Given the description of an element on the screen output the (x, y) to click on. 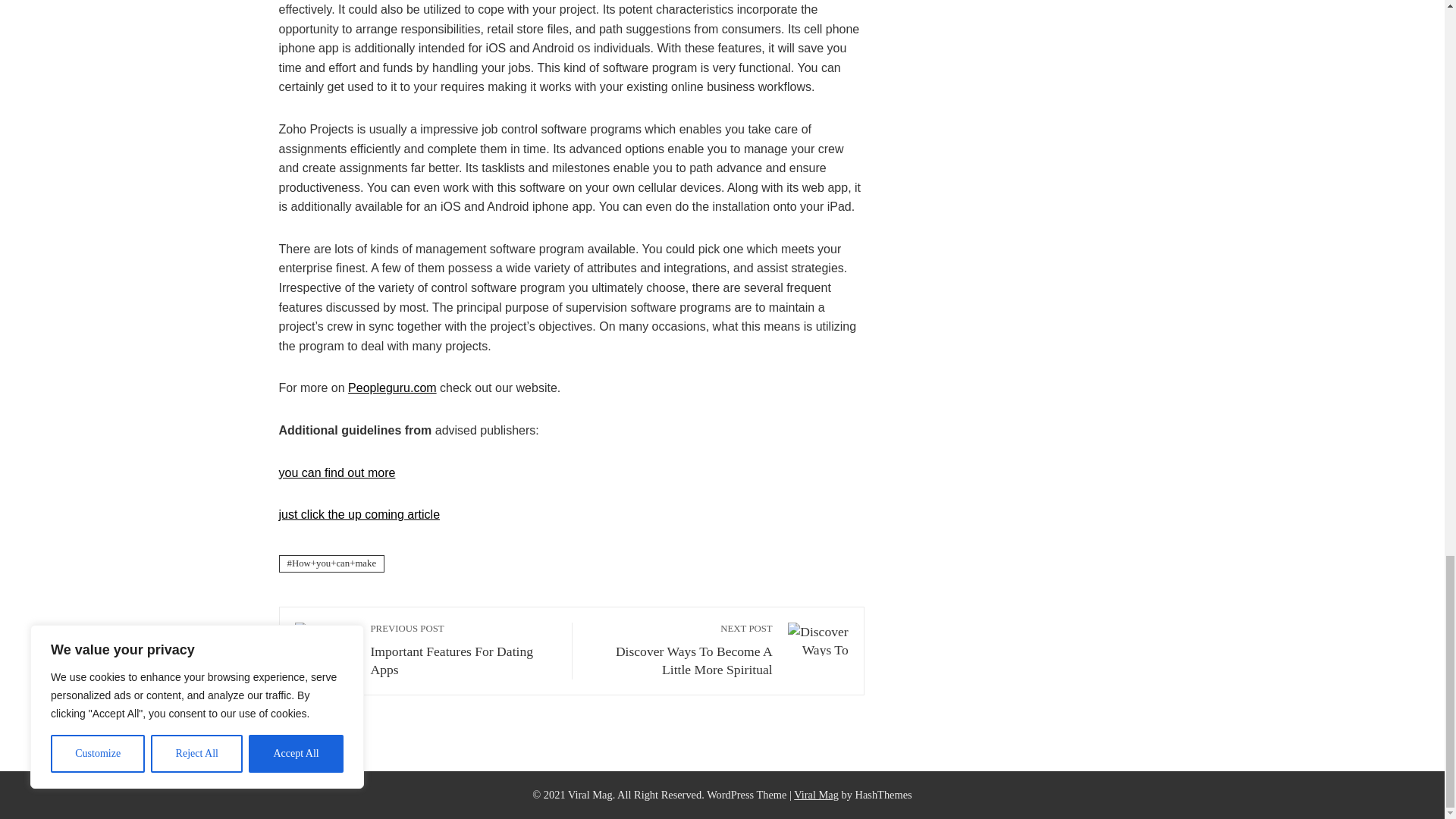
Peopleguru.com (391, 387)
Download Viral News (815, 794)
just click the up coming article (360, 513)
you can find out more (337, 472)
